Given the description of an element on the screen output the (x, y) to click on. 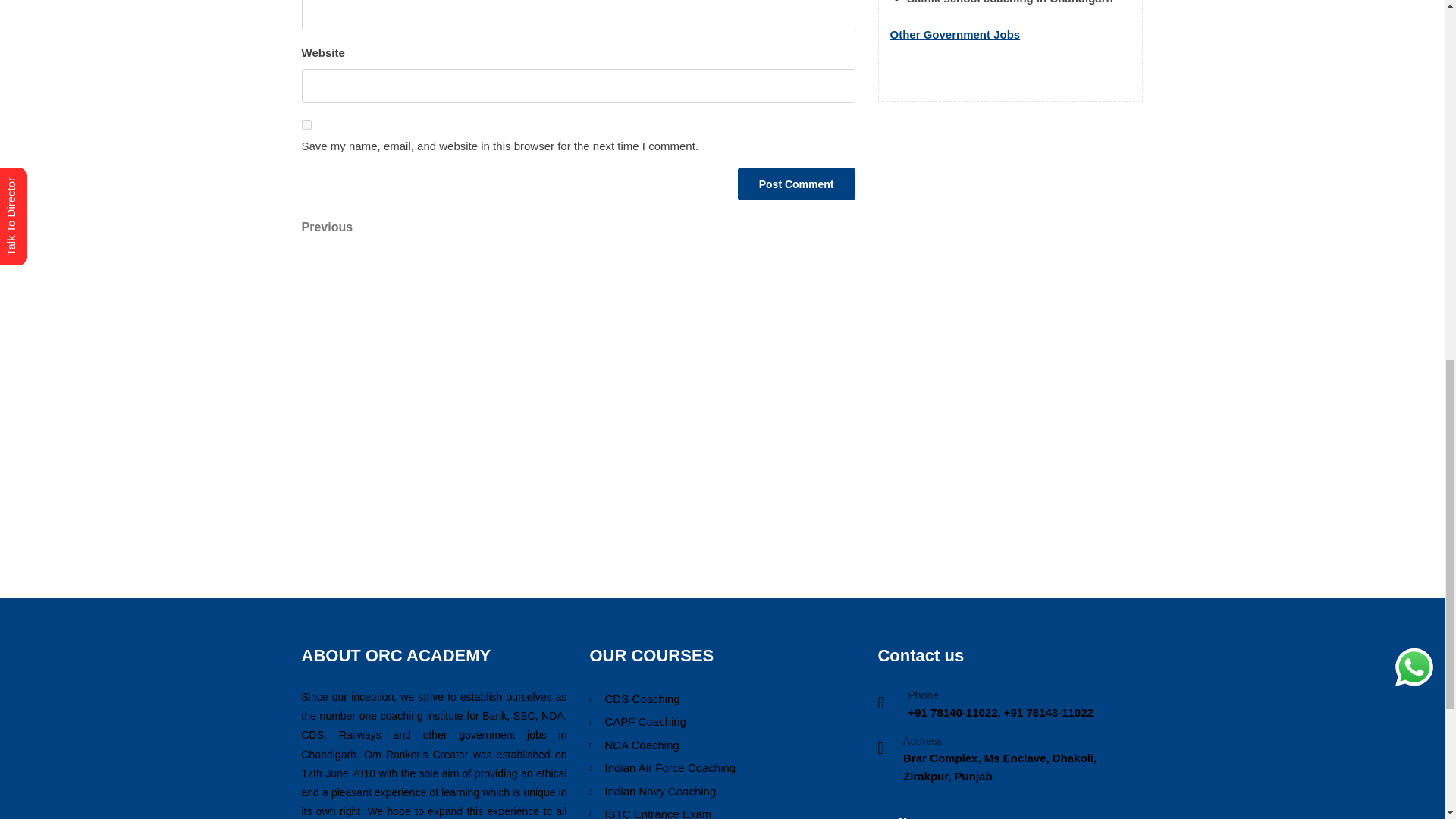
yes (306, 124)
Post Comment (797, 183)
